Given the description of an element on the screen output the (x, y) to click on. 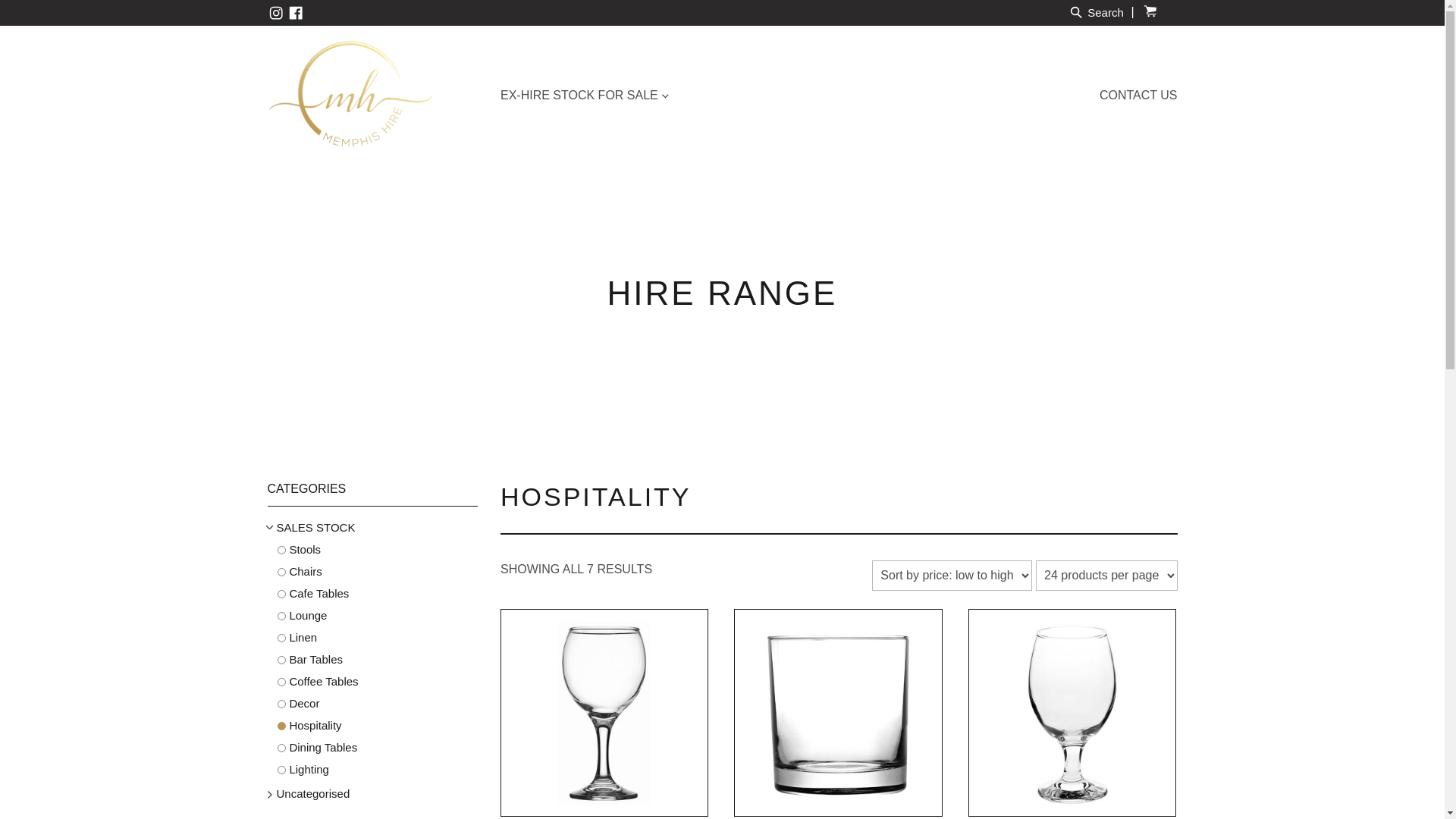
EX-HIRE STOCK FOR SALE Element type: text (585, 95)
Decor Element type: text (377, 703)
Dining Tables Element type: text (377, 747)
Stools Element type: text (377, 549)
Coffee Tables Element type: text (377, 681)
Lighting Element type: text (377, 769)
Lounge Element type: text (377, 615)
Bar Tables Element type: text (377, 659)
Cart 0 Element type: text (1166, 10)
Uncategorised Element type: text (371, 794)
Hospitality Element type: text (377, 725)
CONTACT US Element type: text (1138, 95)
Chairs Element type: text (377, 571)
Search Element type: text (1095, 12)
SALES STOCK Element type: text (371, 527)
Linen Element type: text (377, 637)
Cafe Tables Element type: text (377, 593)
